Given the description of an element on the screen output the (x, y) to click on. 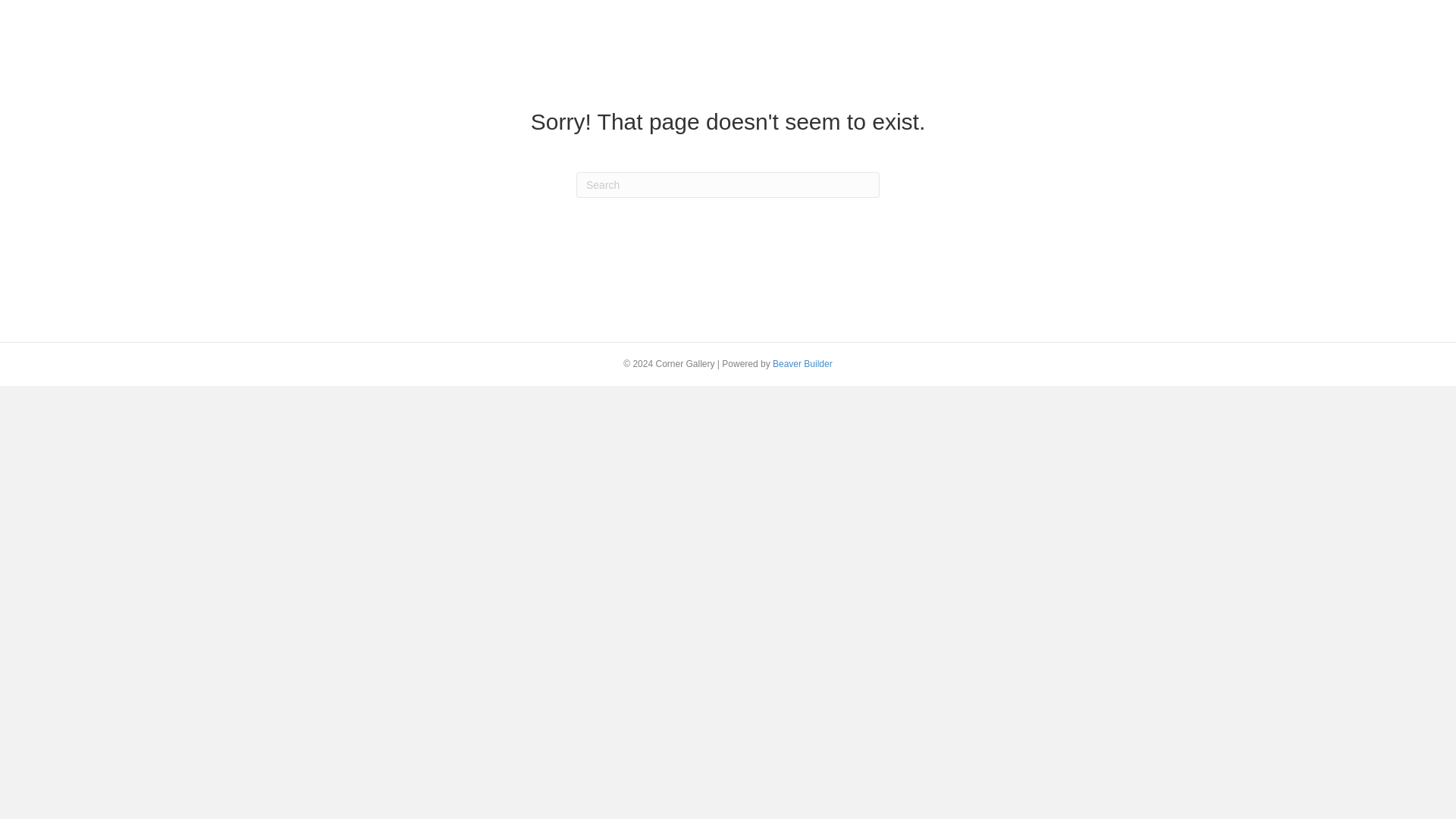
Beaver Builder (802, 363)
WordPress Page Builder Plugin (802, 363)
Type and press Enter to search. (727, 184)
